Given the description of an element on the screen output the (x, y) to click on. 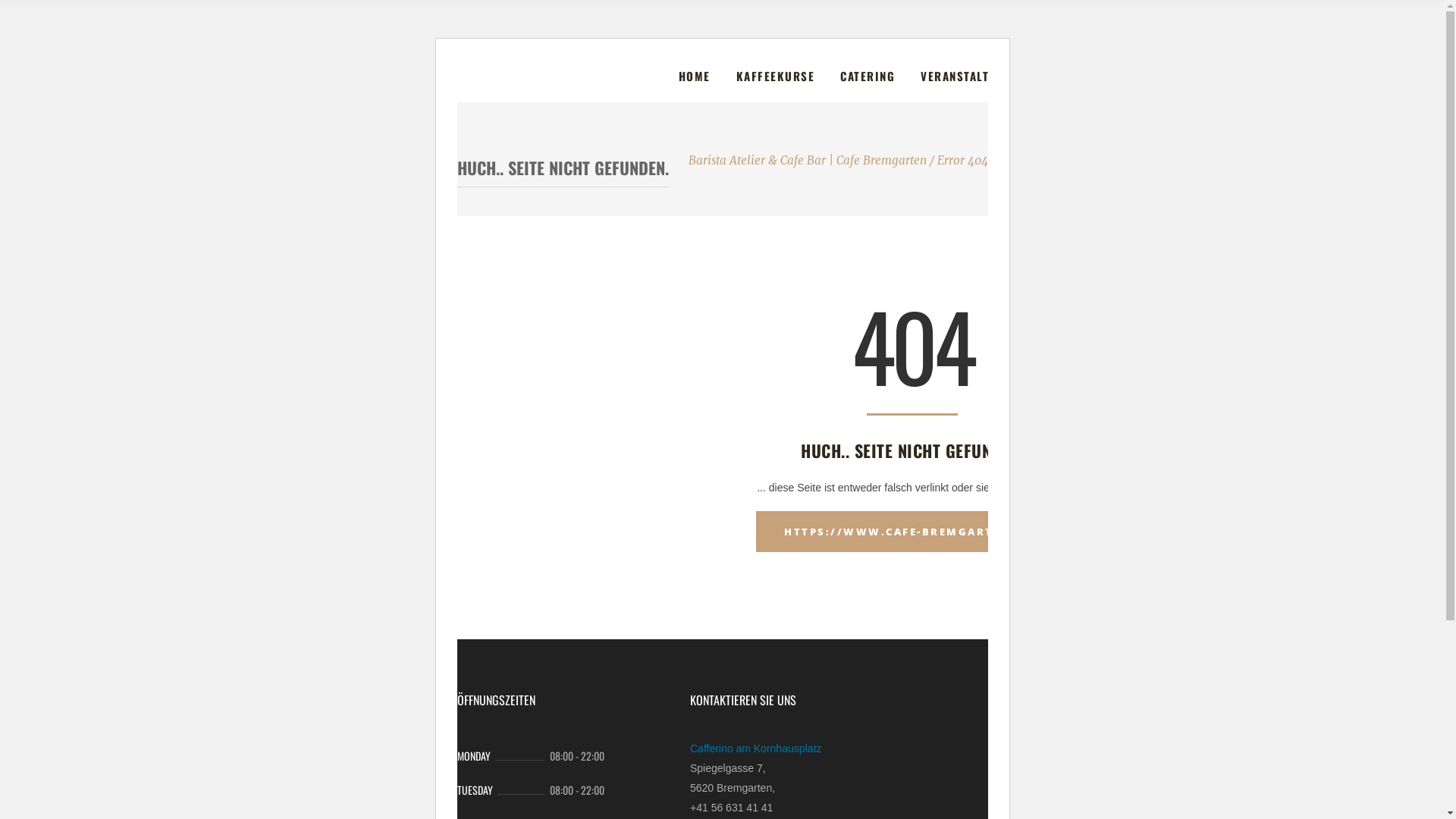
CATERING Element type: text (867, 75)
VERANSTALTUNGEN Element type: text (972, 75)
Cafferino am Kornhausplatz Element type: text (755, 748)
KAFFEEKURSE Element type: text (775, 75)
HTTPS://WWW.CAFE-BREMGARTEN.CH/ Element type: text (911, 531)
HOME Element type: text (694, 75)
Barista Atelier & Cafe Bar | Cafe Bremgarten Element type: text (807, 160)
